Given the description of an element on the screen output the (x, y) to click on. 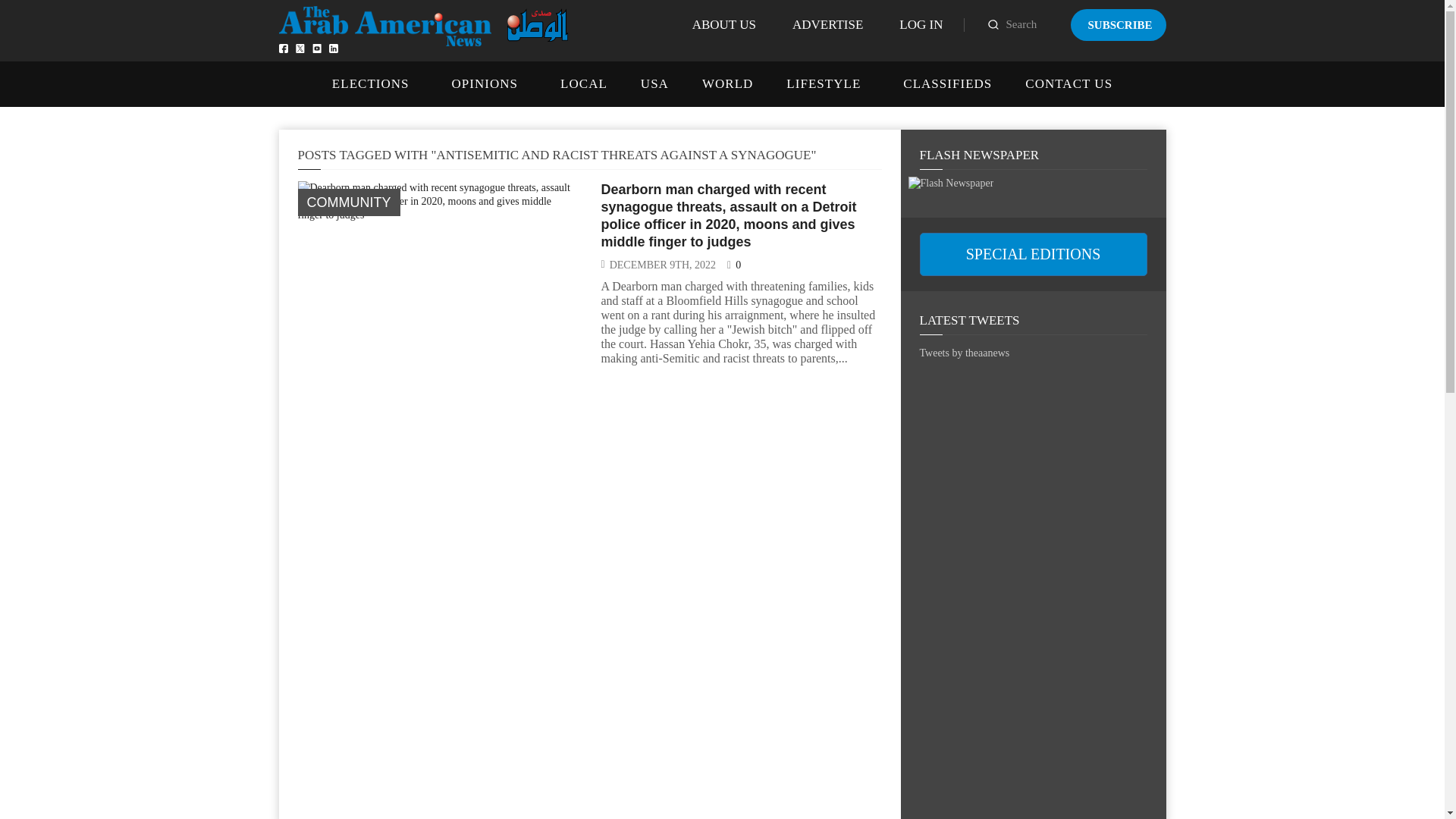
LOCAL (583, 83)
OPINIONS (484, 83)
CONTACT US (1068, 83)
ELECTIONS (370, 83)
LOG IN (920, 24)
ADVERTISE (827, 24)
LIFESTYLE (823, 83)
ABOUT US (724, 24)
WORLD (726, 83)
USA (654, 83)
SUBSCRIBE (1118, 24)
CLASSIFIEDS (946, 83)
COMMUNITY (347, 202)
